Given the description of an element on the screen output the (x, y) to click on. 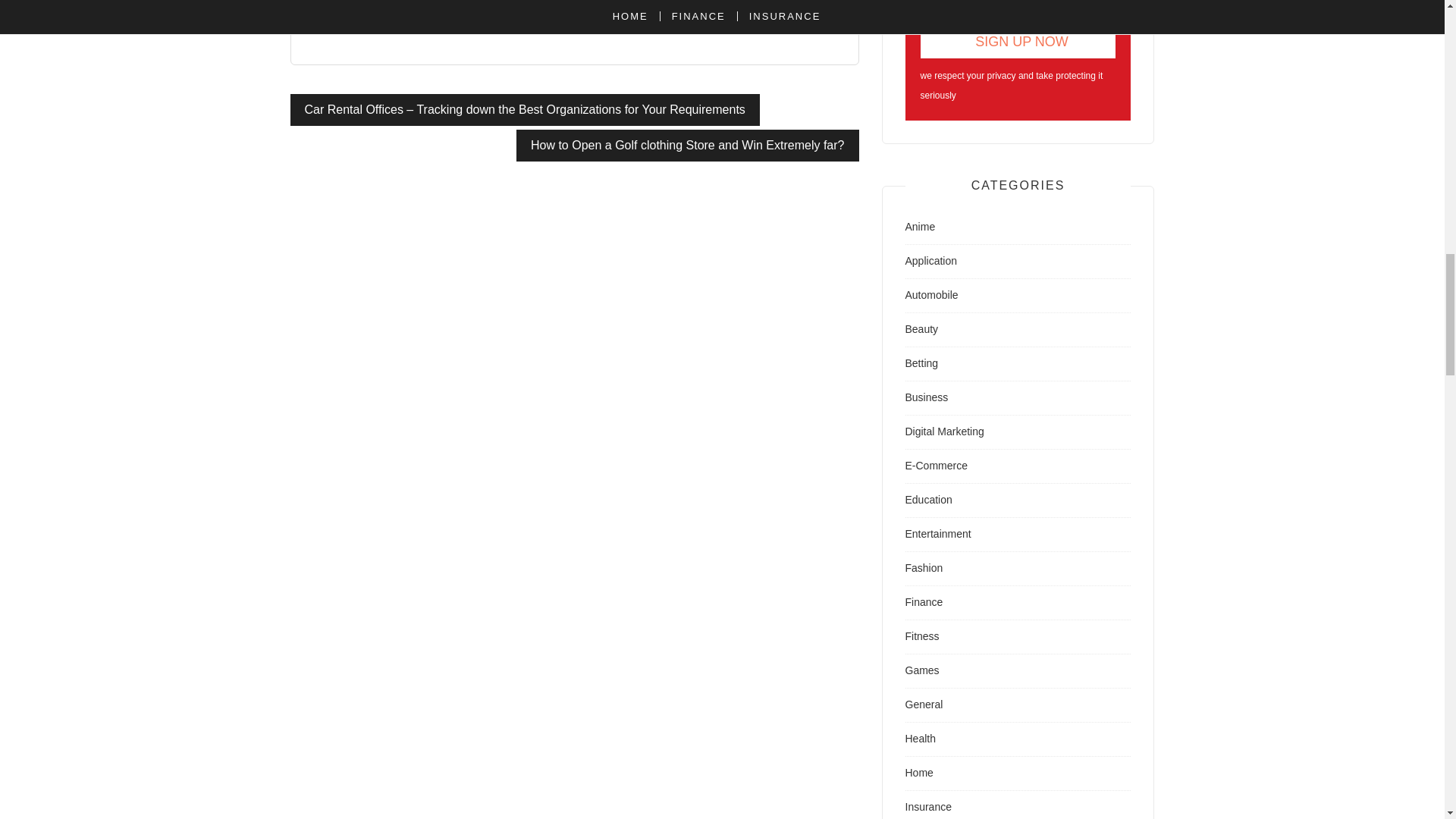
Beauty (922, 328)
Application (931, 260)
General (924, 704)
Business (927, 397)
Anime (920, 226)
Sign Up Now (1018, 41)
Education (928, 499)
Automobile (931, 295)
Entertainment (938, 533)
Games (922, 670)
